Given the description of an element on the screen output the (x, y) to click on. 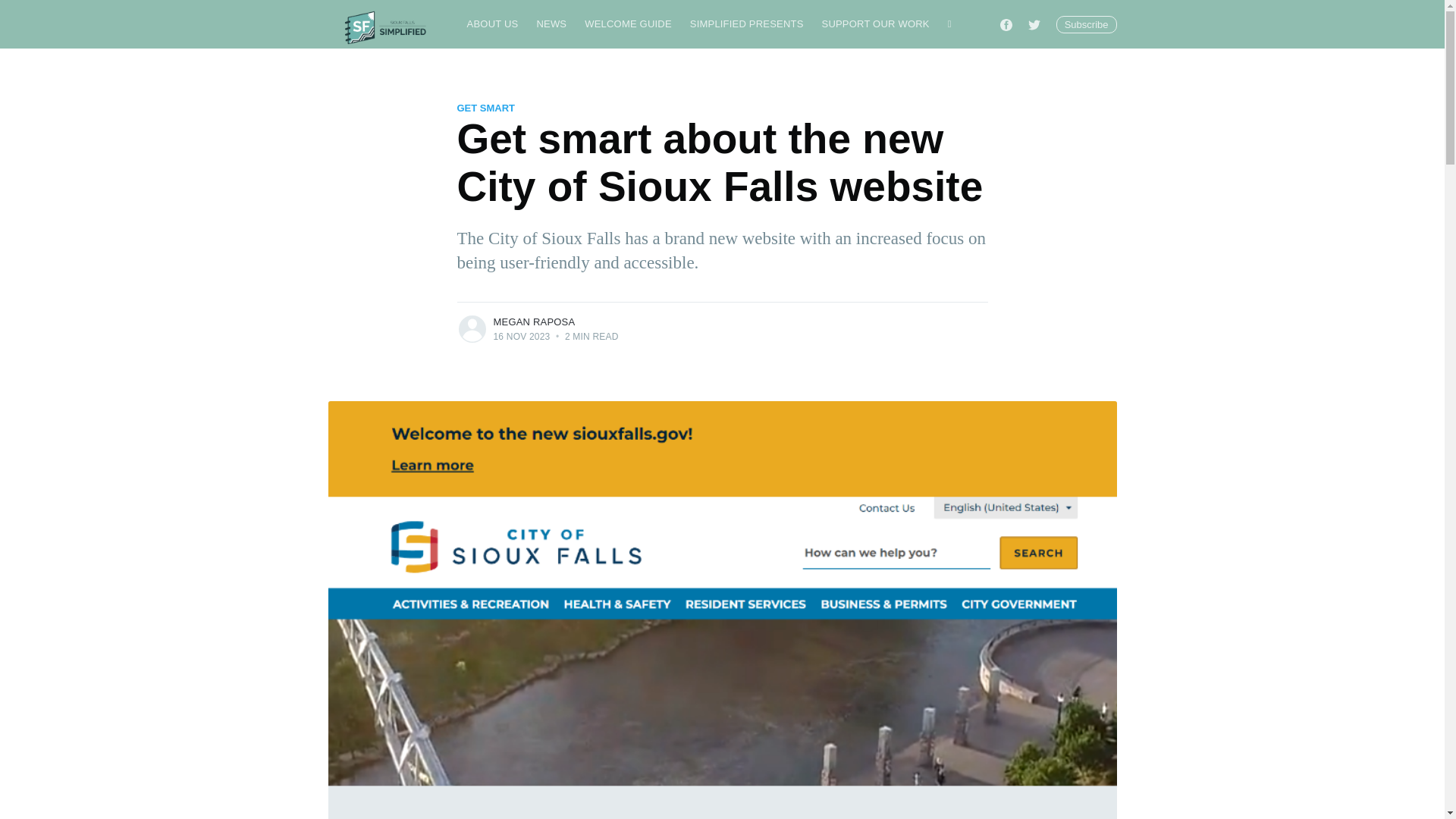
NEWS (551, 24)
WELCOME GUIDE (628, 24)
SIMPLIFIED PRESENTS (746, 24)
Subscribe (1086, 23)
ABOUT US (492, 24)
MEGAN RAPOSA (534, 321)
GET SMART (486, 108)
SUPPORT OUR WORK (875, 24)
